Given the description of an element on the screen output the (x, y) to click on. 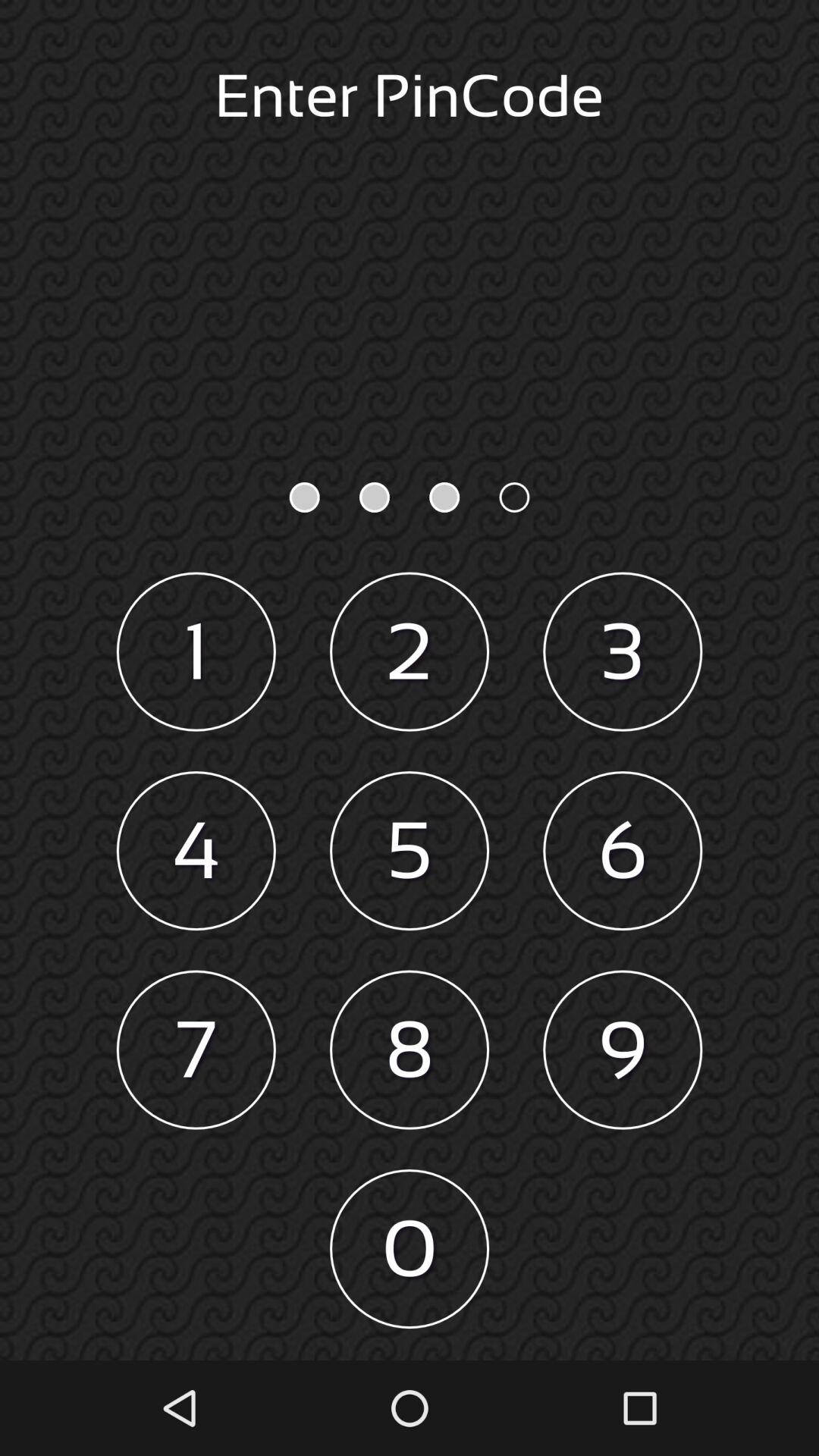
select the 9 item (622, 1049)
